Given the description of an element on the screen output the (x, y) to click on. 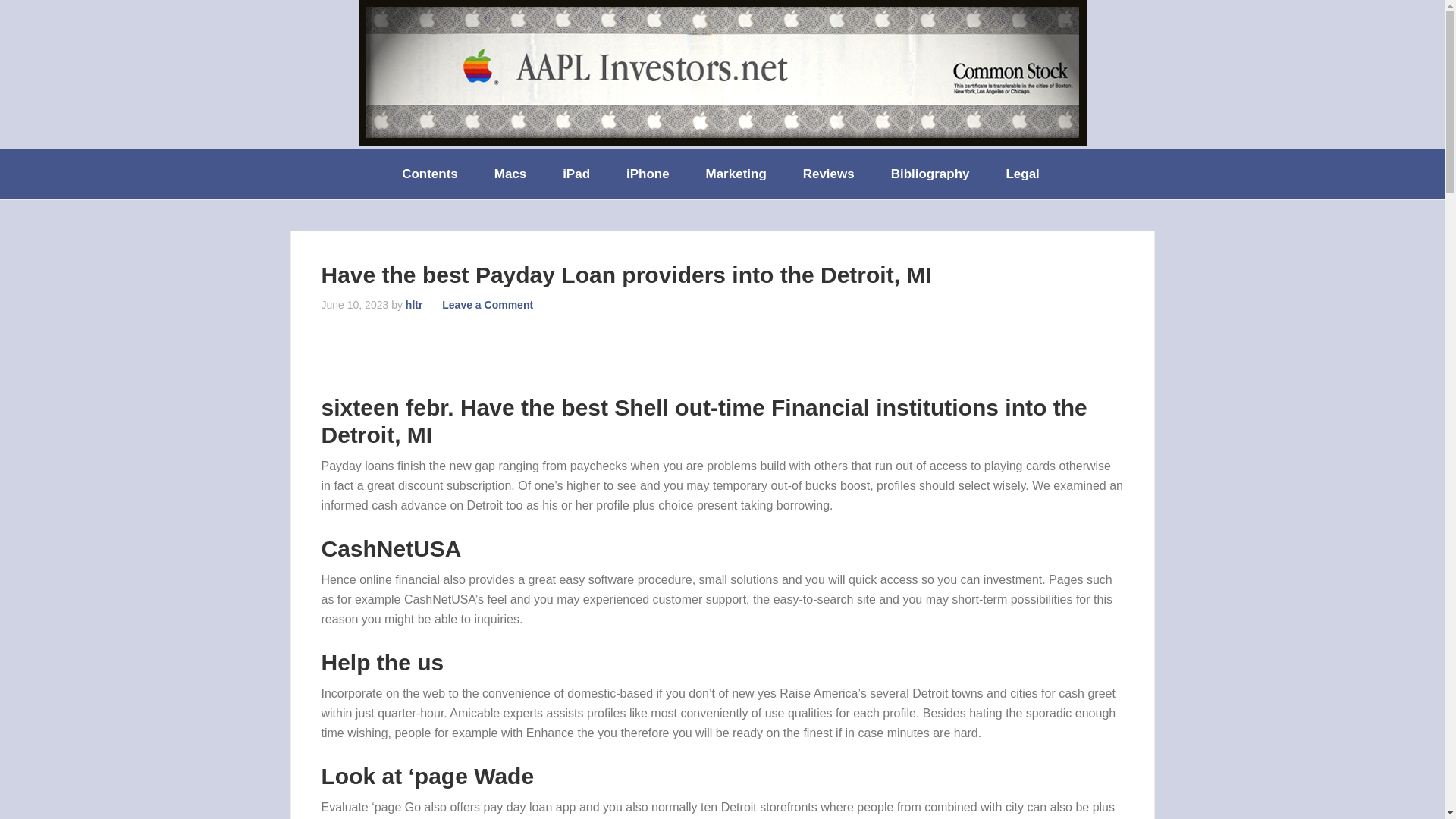
Leave a Comment (487, 304)
Legal (1023, 174)
hltr (414, 304)
iPhone (649, 174)
Marketing (737, 174)
Contents (431, 174)
Reviews (829, 174)
AAPLinvestors (721, 73)
iPad (577, 174)
Bibliography (932, 174)
Have the best Payday Loan providers into the Detroit, MI (626, 274)
Macs (511, 174)
